Given the description of an element on the screen output the (x, y) to click on. 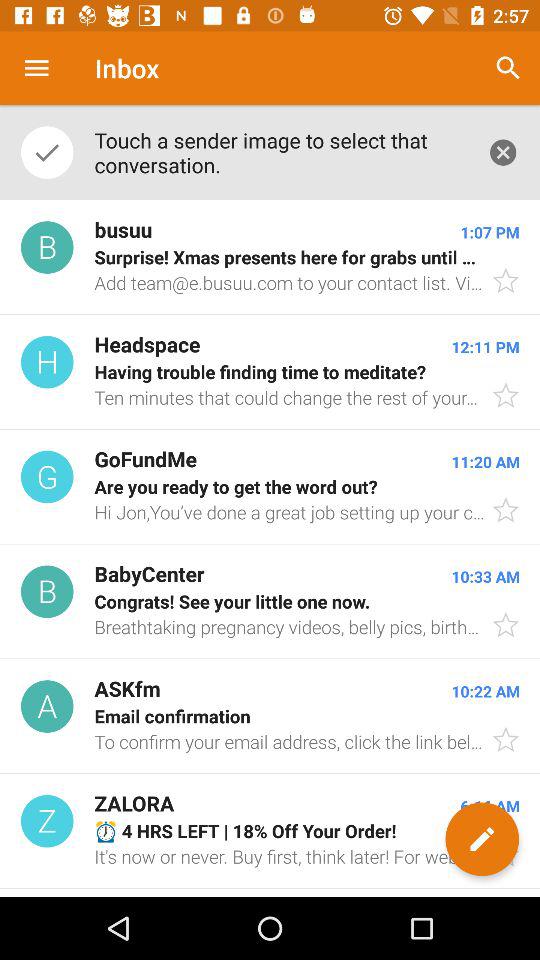
select the item below inbox icon (280, 152)
